Given the description of an element on the screen output the (x, y) to click on. 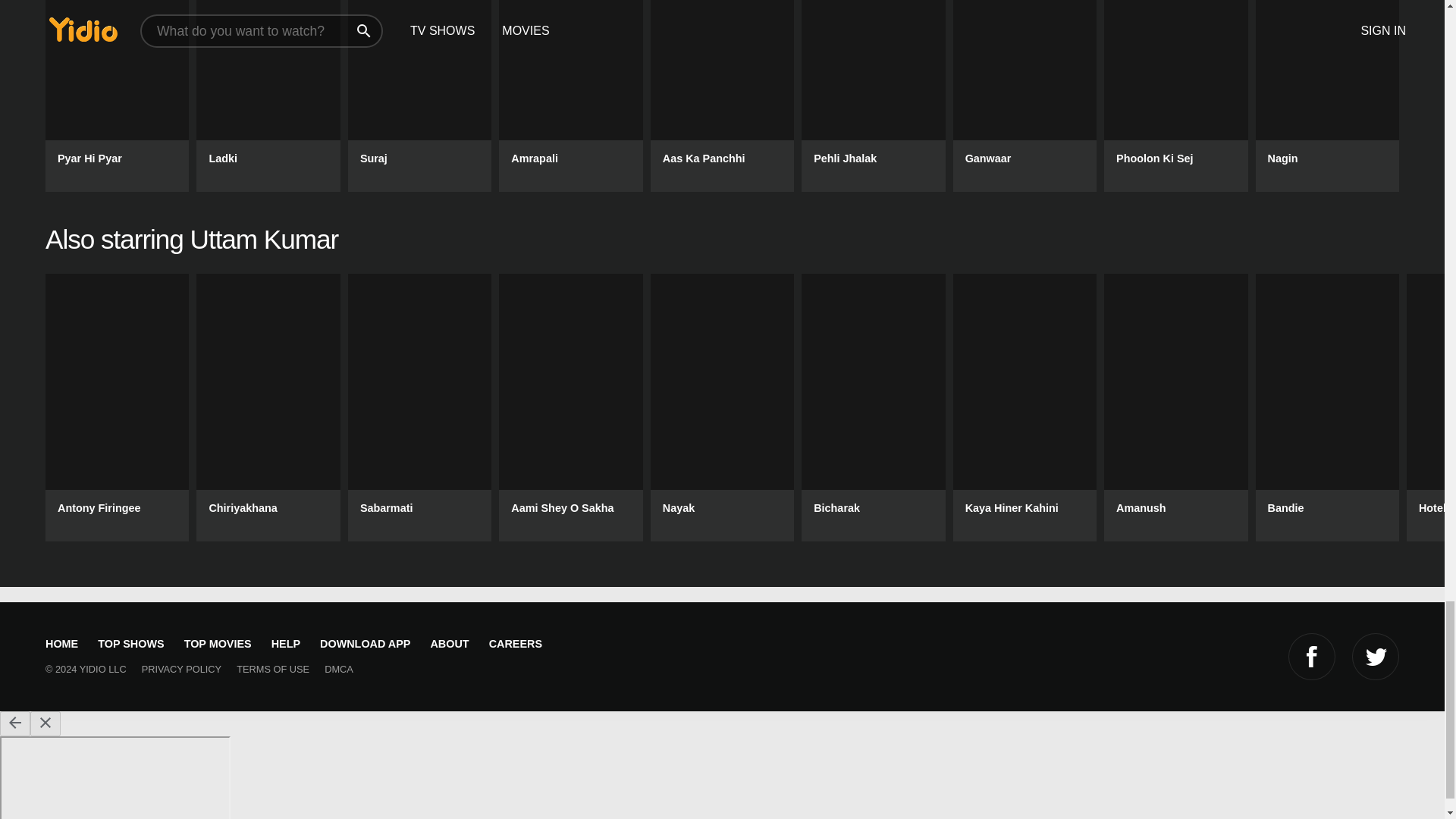
Twitter (1375, 656)
Facebook (1311, 656)
